Given the description of an element on the screen output the (x, y) to click on. 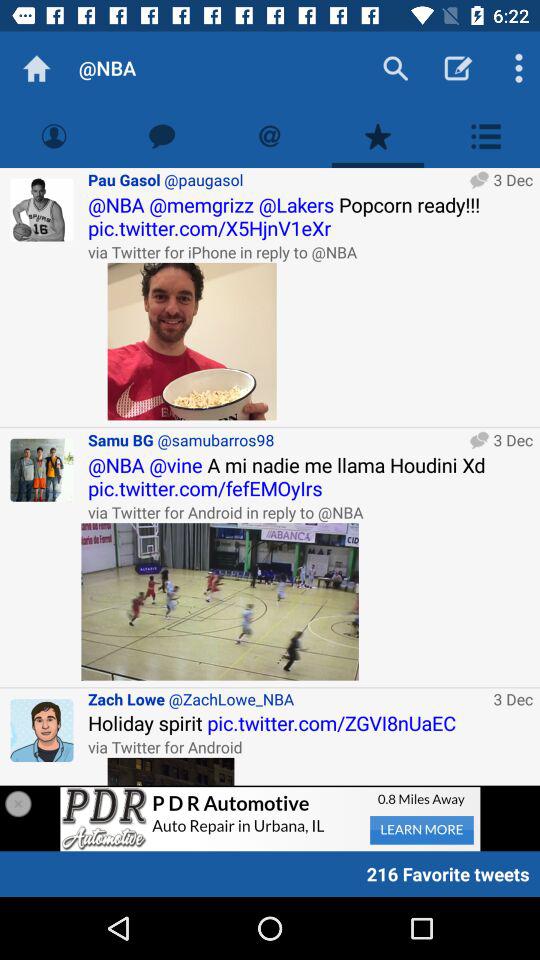
go to user profile (41, 469)
